Given the description of an element on the screen output the (x, y) to click on. 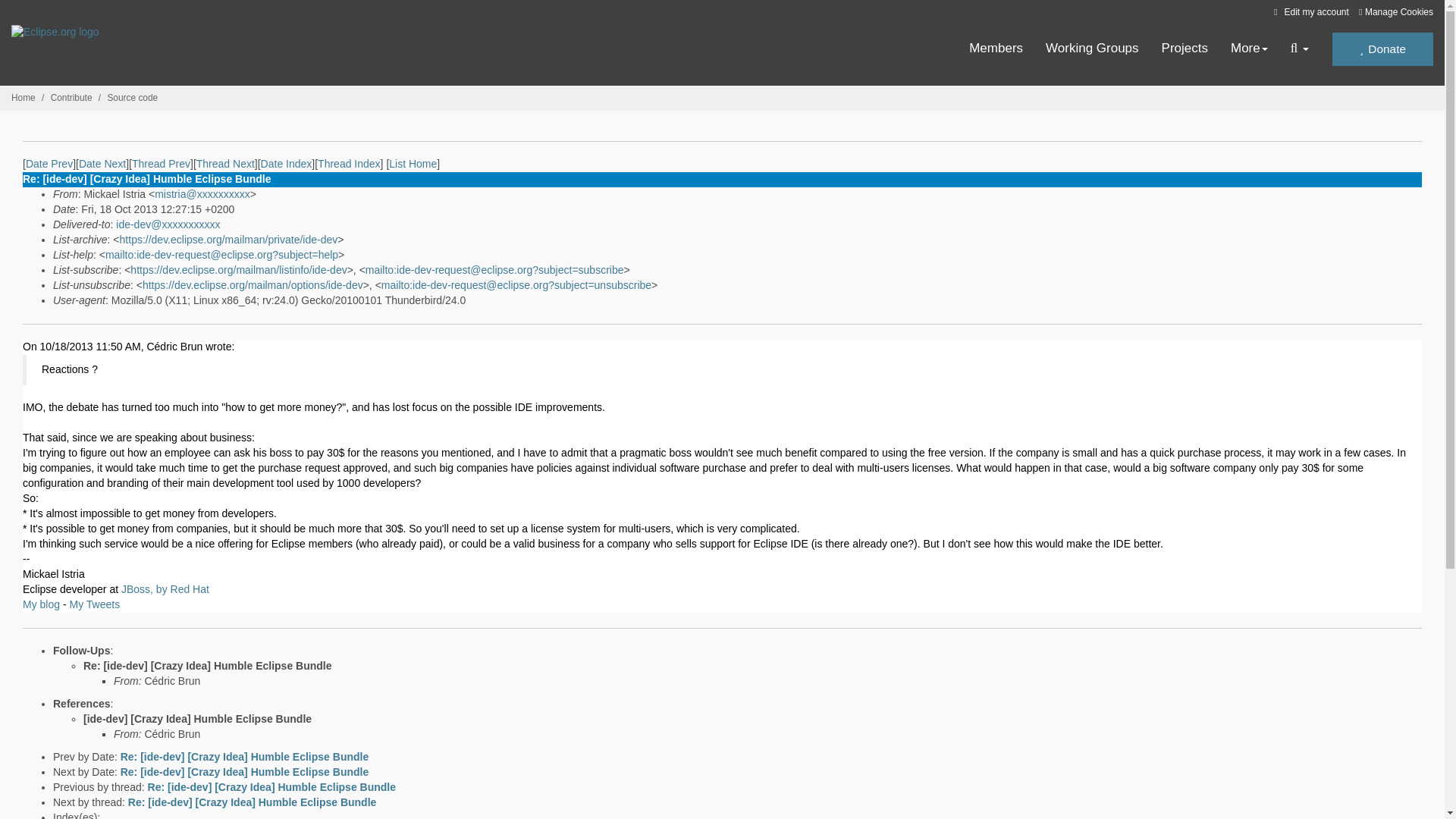
Projects (1184, 48)
Members (996, 48)
Edit my account (1309, 11)
Donate (1382, 49)
Working Groups (1091, 48)
More (1249, 48)
Manage Cookies (1395, 12)
